Given the description of an element on the screen output the (x, y) to click on. 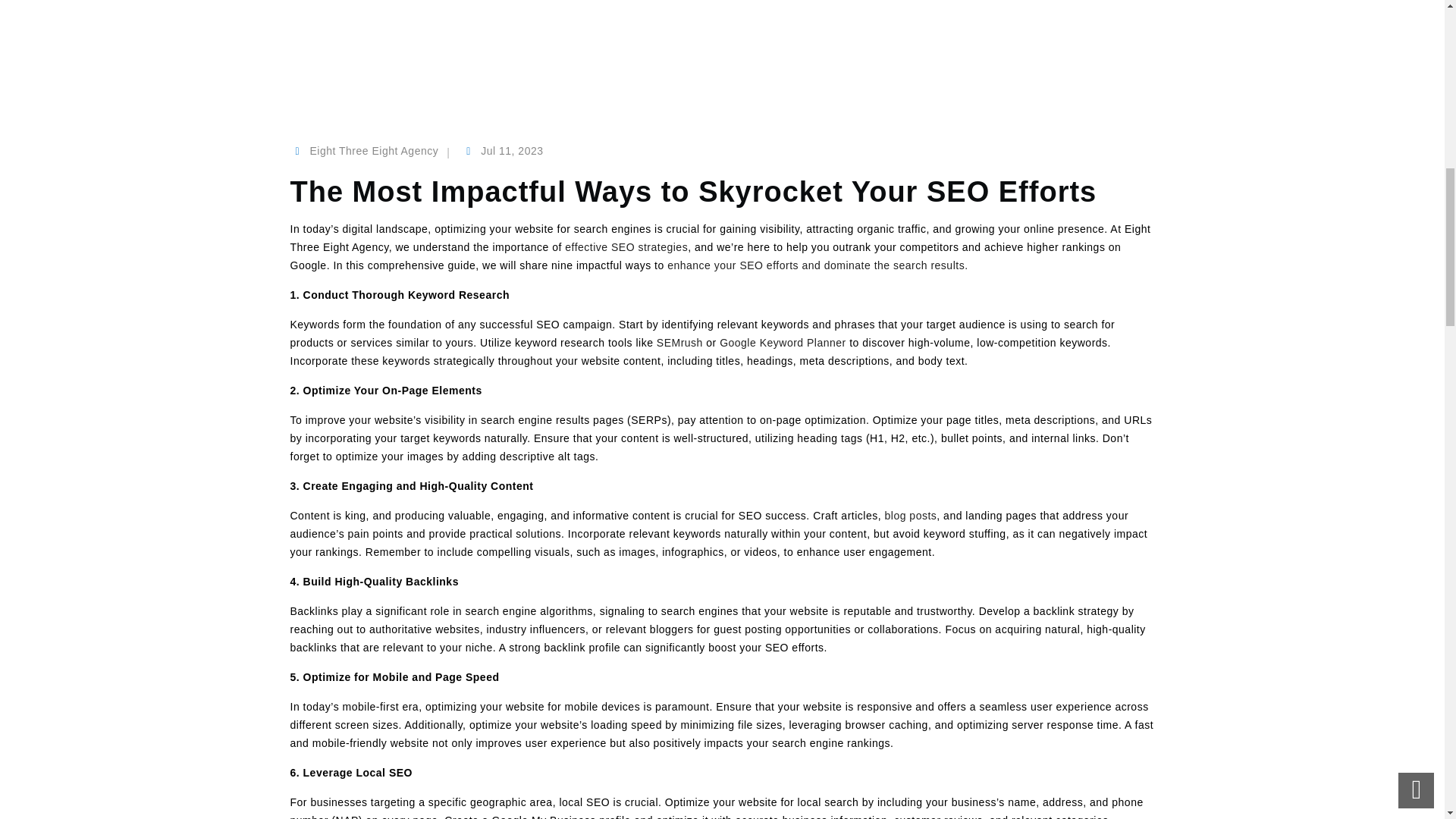
enhance your SEO efforts and dominate the search results. (817, 265)
Jul 11, 2023 (511, 150)
SEMrush (679, 342)
Eight Three Eight Agency (373, 150)
Google Keyword Planner (782, 342)
blog posts (909, 515)
effective SEO strategies (625, 246)
